Given the description of an element on the screen output the (x, y) to click on. 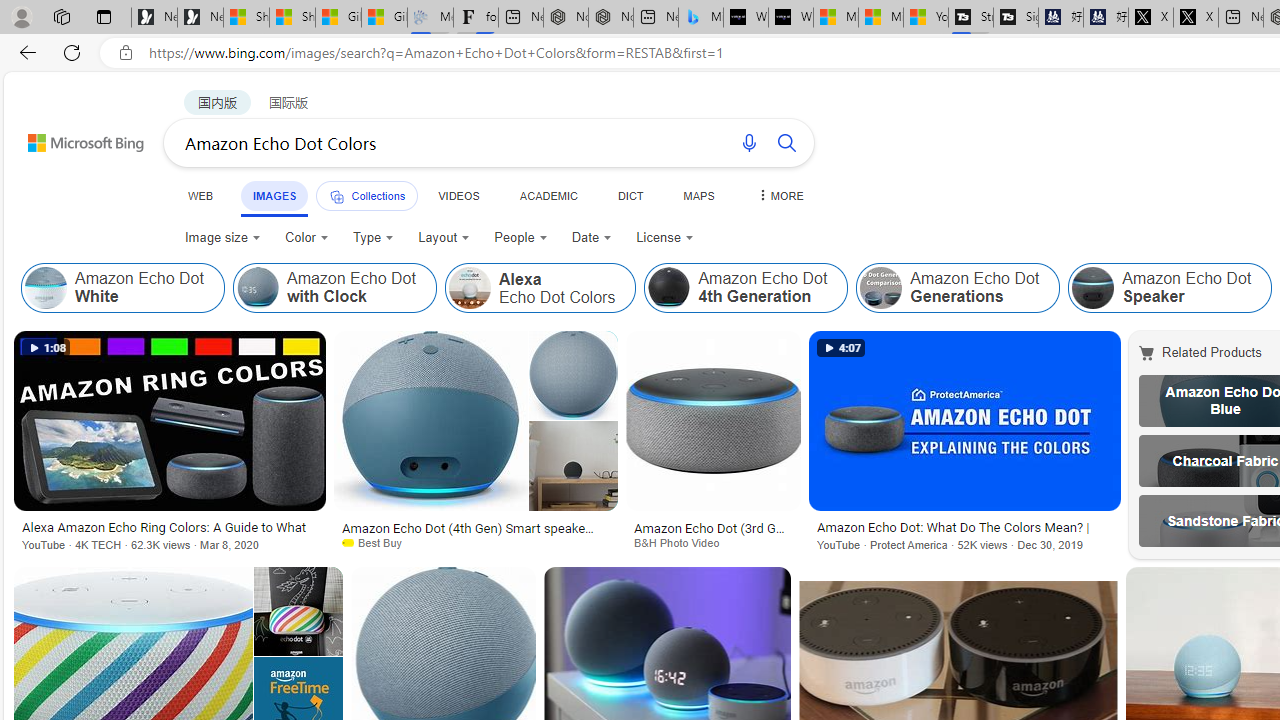
People (520, 237)
Color (305, 237)
Microsoft Bing Travel - Shangri-La Hotel Bangkok (700, 17)
IMAGES (274, 195)
Image size (222, 237)
Amazon Echo Dot White (122, 287)
Amazon Echo Dot White (45, 287)
Streaming Coverage | T3 (970, 17)
Type (372, 237)
